Given the description of an element on the screen output the (x, y) to click on. 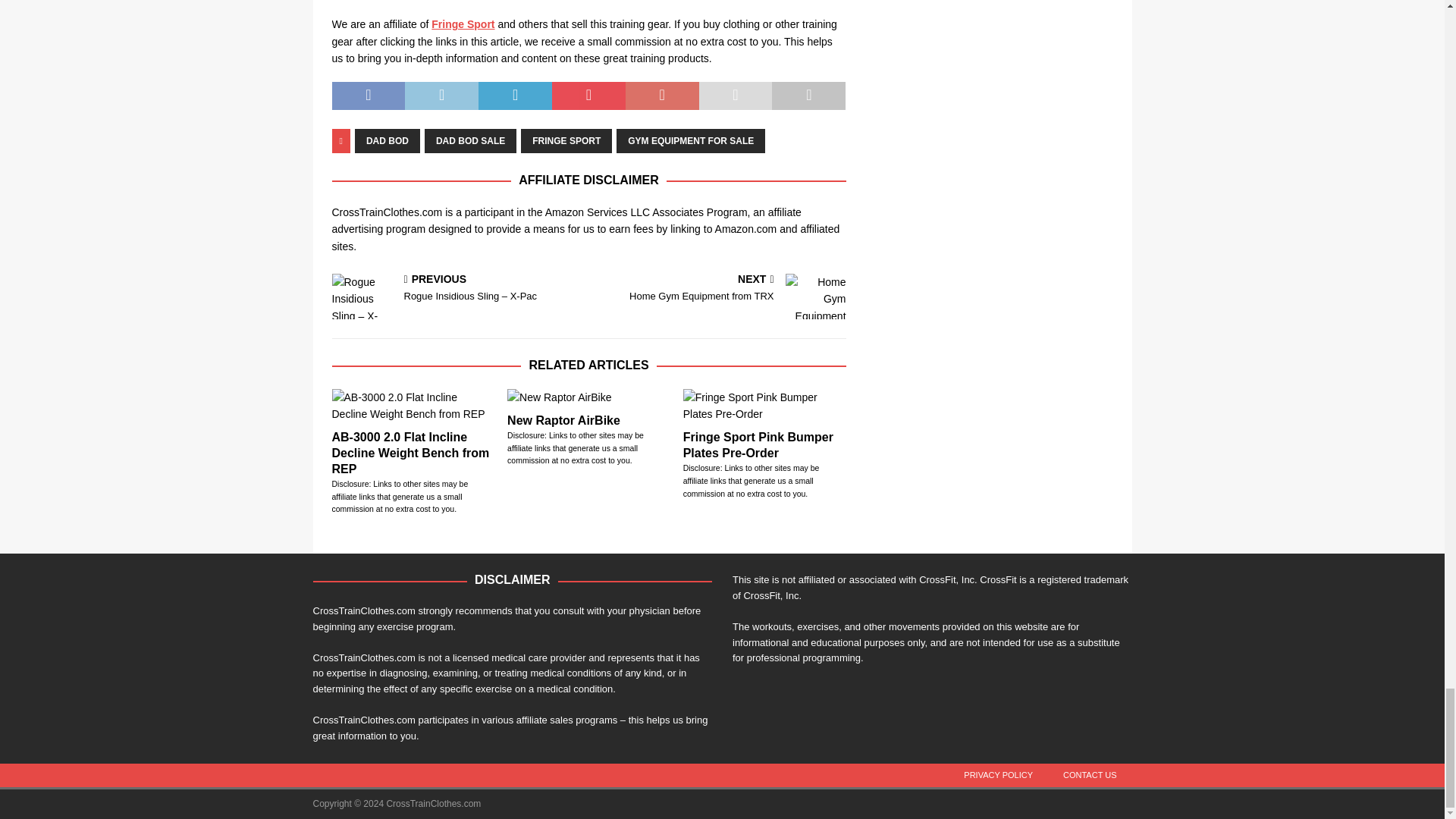
Home Gym Equipment from TRX (815, 296)
